Given the description of an element on the screen output the (x, y) to click on. 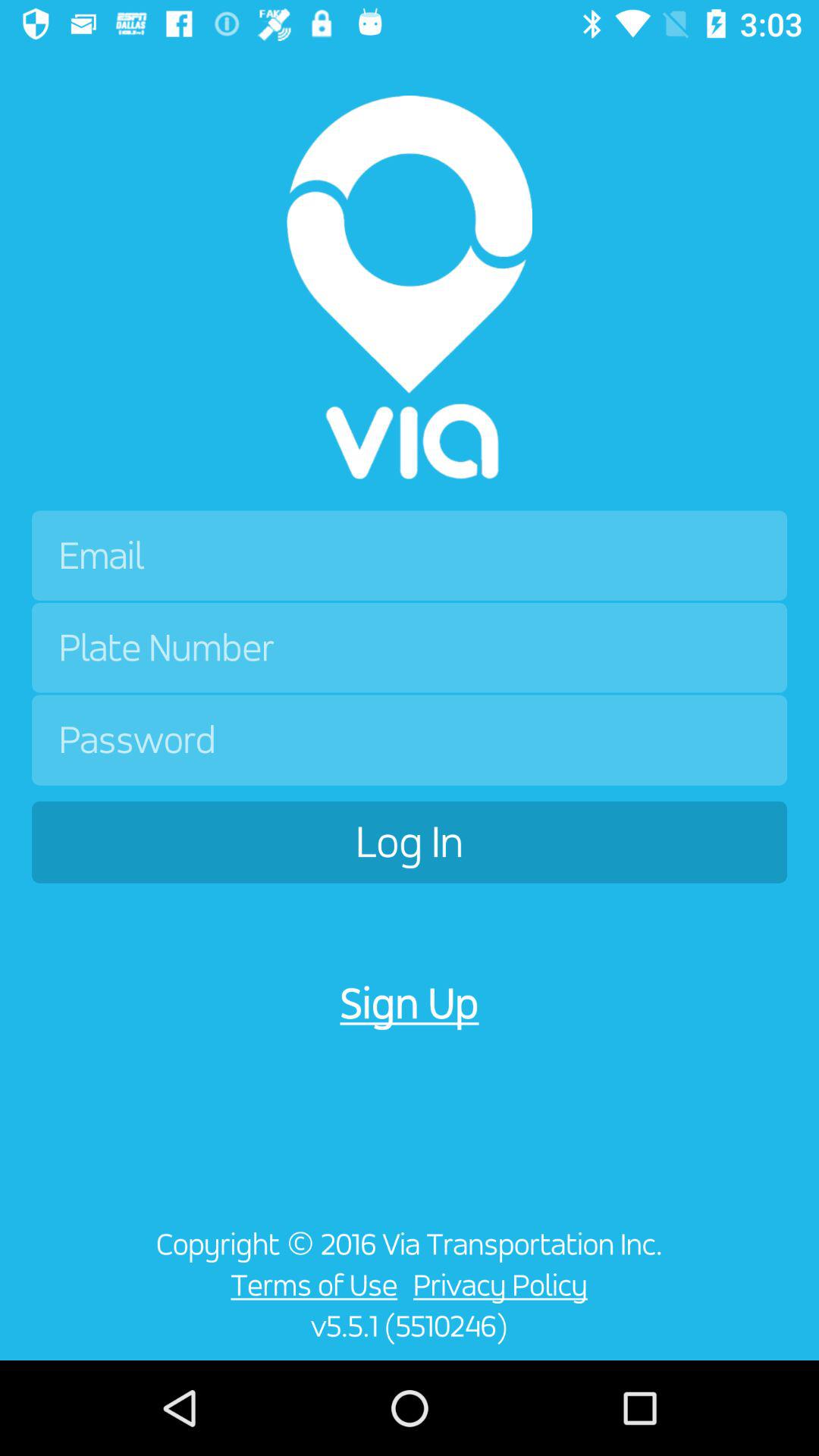
open icon above copyright 2016 via icon (409, 1003)
